Given the description of an element on the screen output the (x, y) to click on. 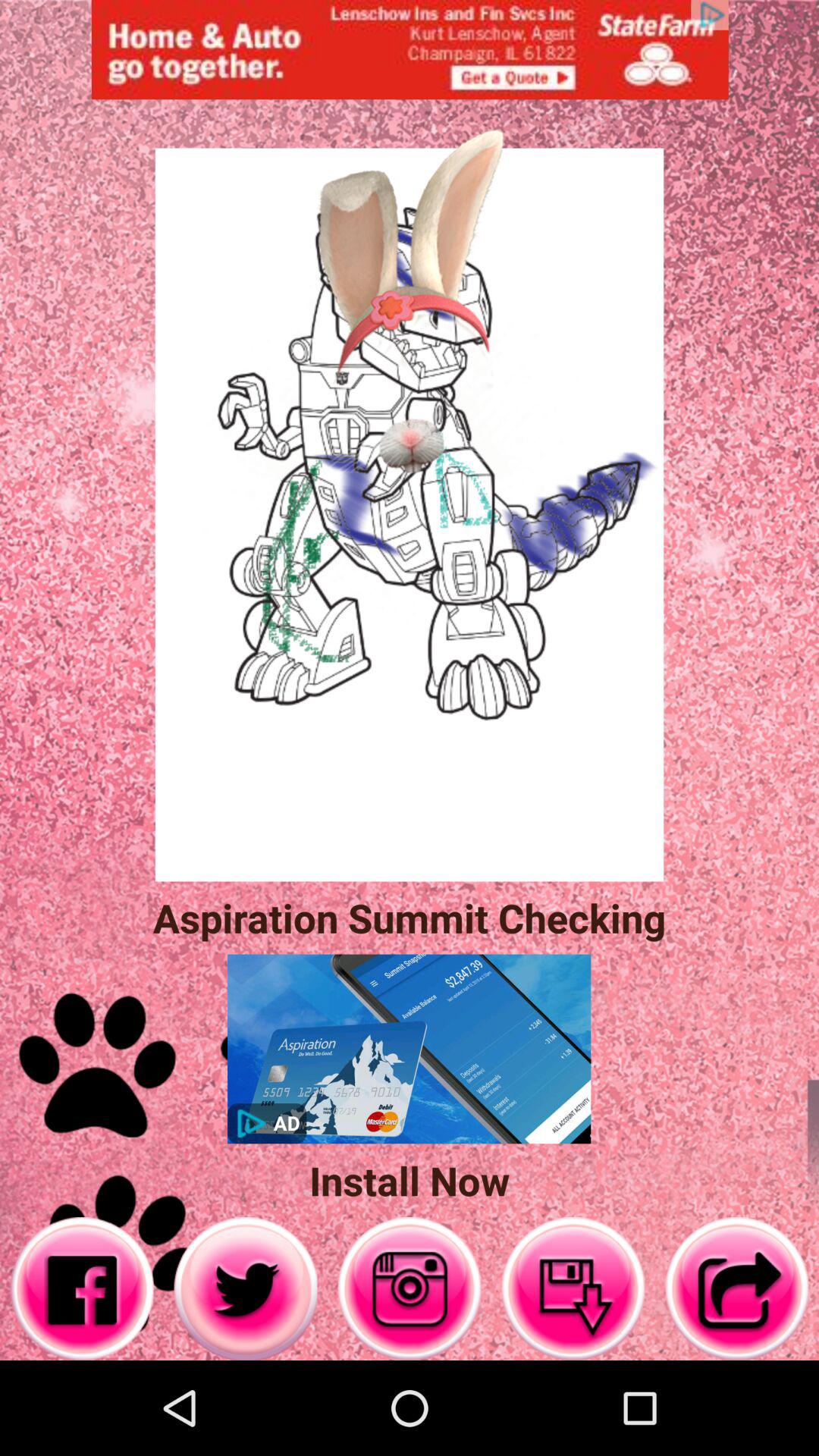
go back (737, 1288)
